Given the description of an element on the screen output the (x, y) to click on. 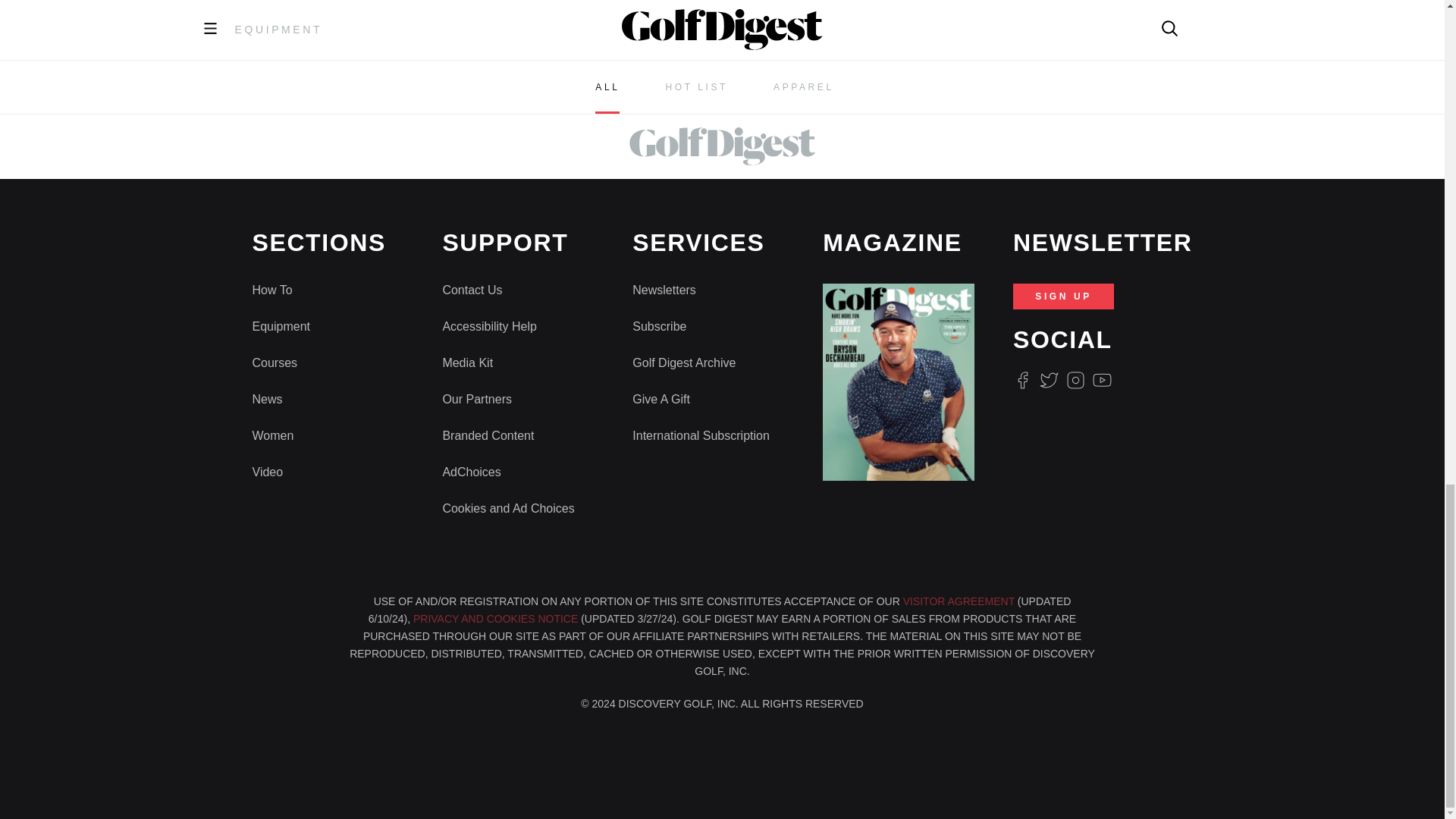
Facebook Logo (1022, 380)
Twitter Logo (1048, 380)
Youtube Icon (1102, 380)
Instagram Logo (1074, 380)
